Given the description of an element on the screen output the (x, y) to click on. 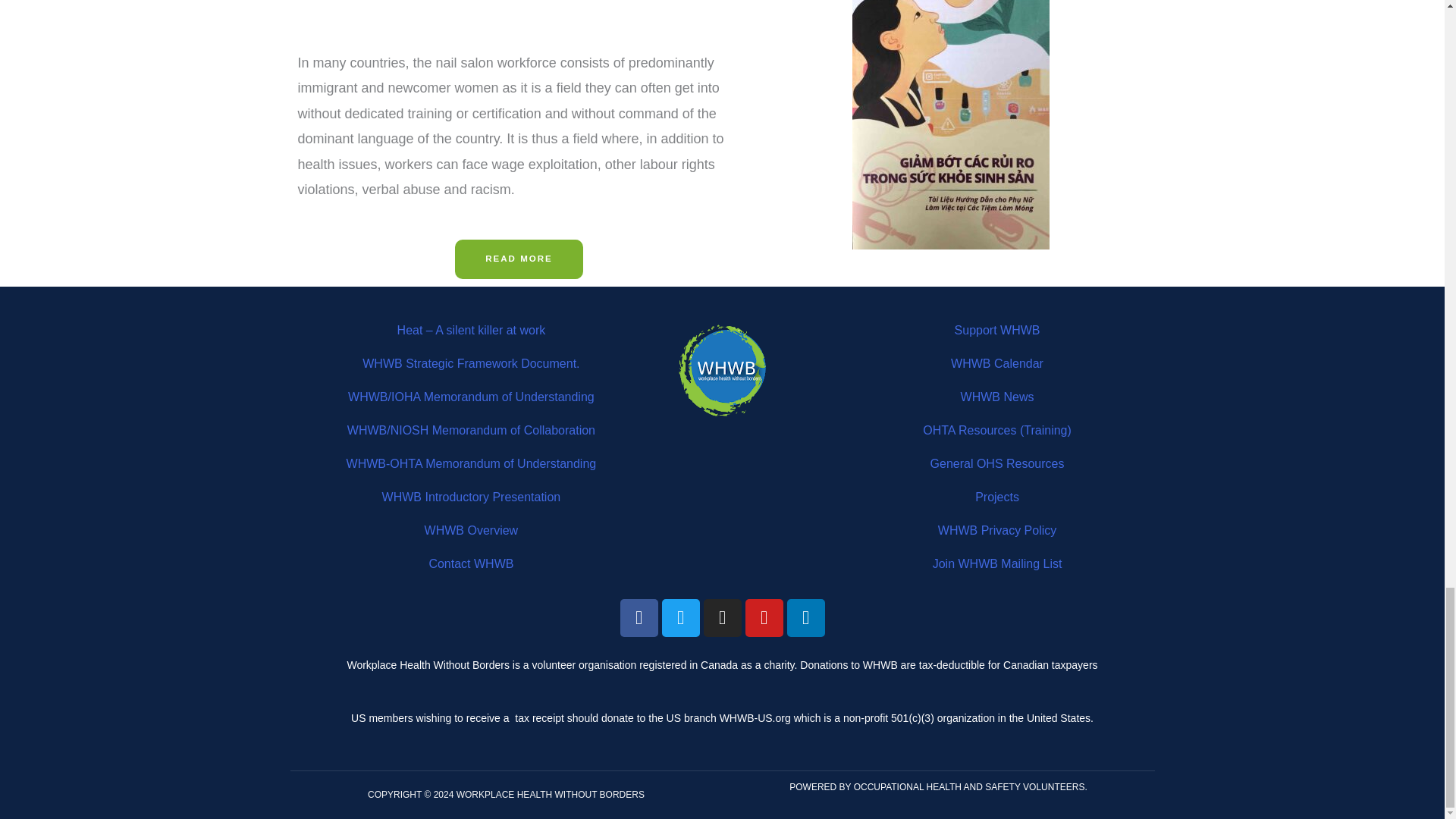
WHWB Strategic Framework Document. (470, 363)
WHWB-OHTA Memorandum of Understanding (471, 463)
READ MORE (518, 259)
WHWB Introductory Presentation (470, 496)
